Given the description of an element on the screen output the (x, y) to click on. 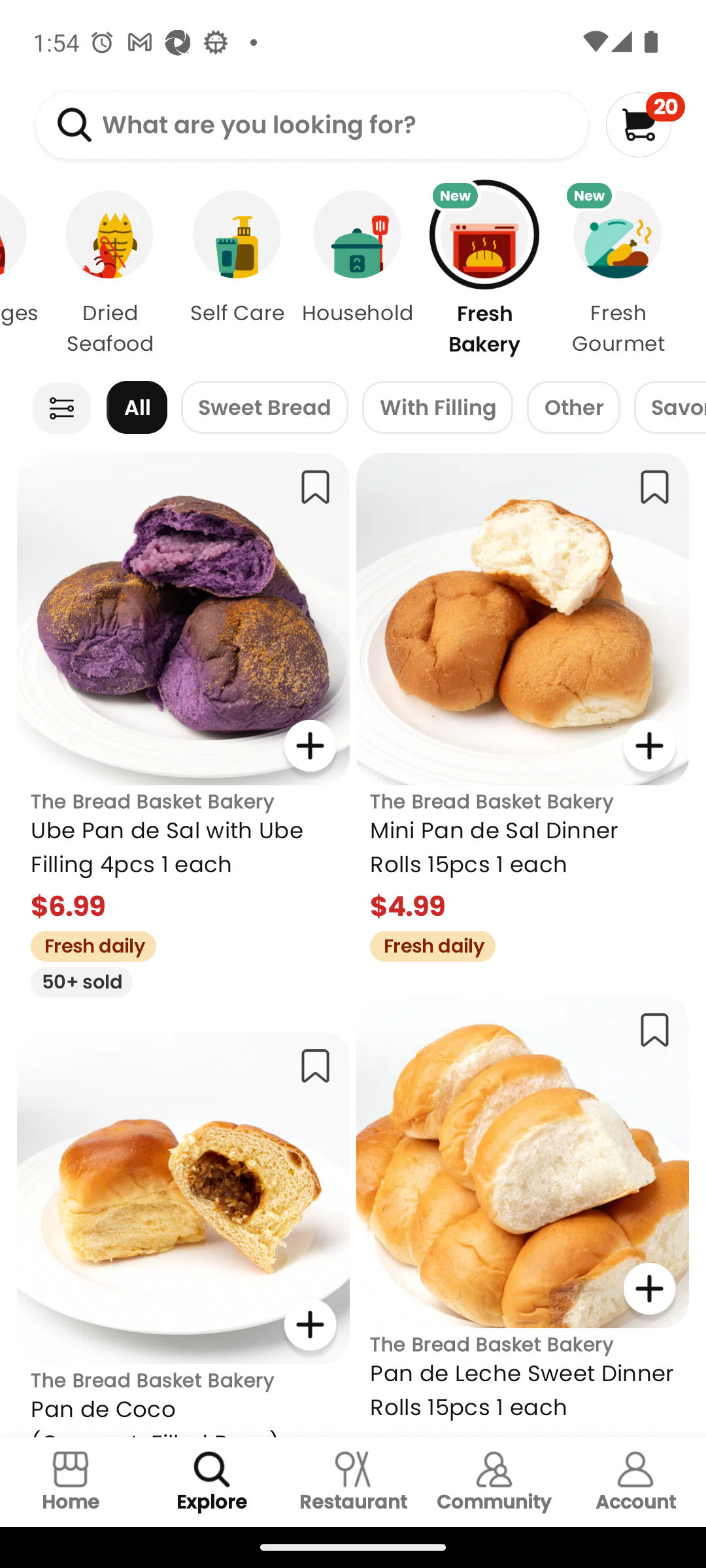
What are you looking for? (311, 124)
20 (644, 124)
Dried Seafood (110, 273)
Self Care (237, 273)
Household (357, 273)
New Fresh Bakery (484, 273)
New Fresh Gourmet (628, 273)
All (136, 407)
Sweet Bread (264, 407)
With Filling (437, 407)
Other (573, 407)
Savory Bread (669, 407)
Fresh daily (86, 943)
Fresh daily (425, 943)
Home (70, 1482)
Explore (211, 1482)
Restaurant (352, 1482)
Community (493, 1482)
Account (635, 1482)
